Given the description of an element on the screen output the (x, y) to click on. 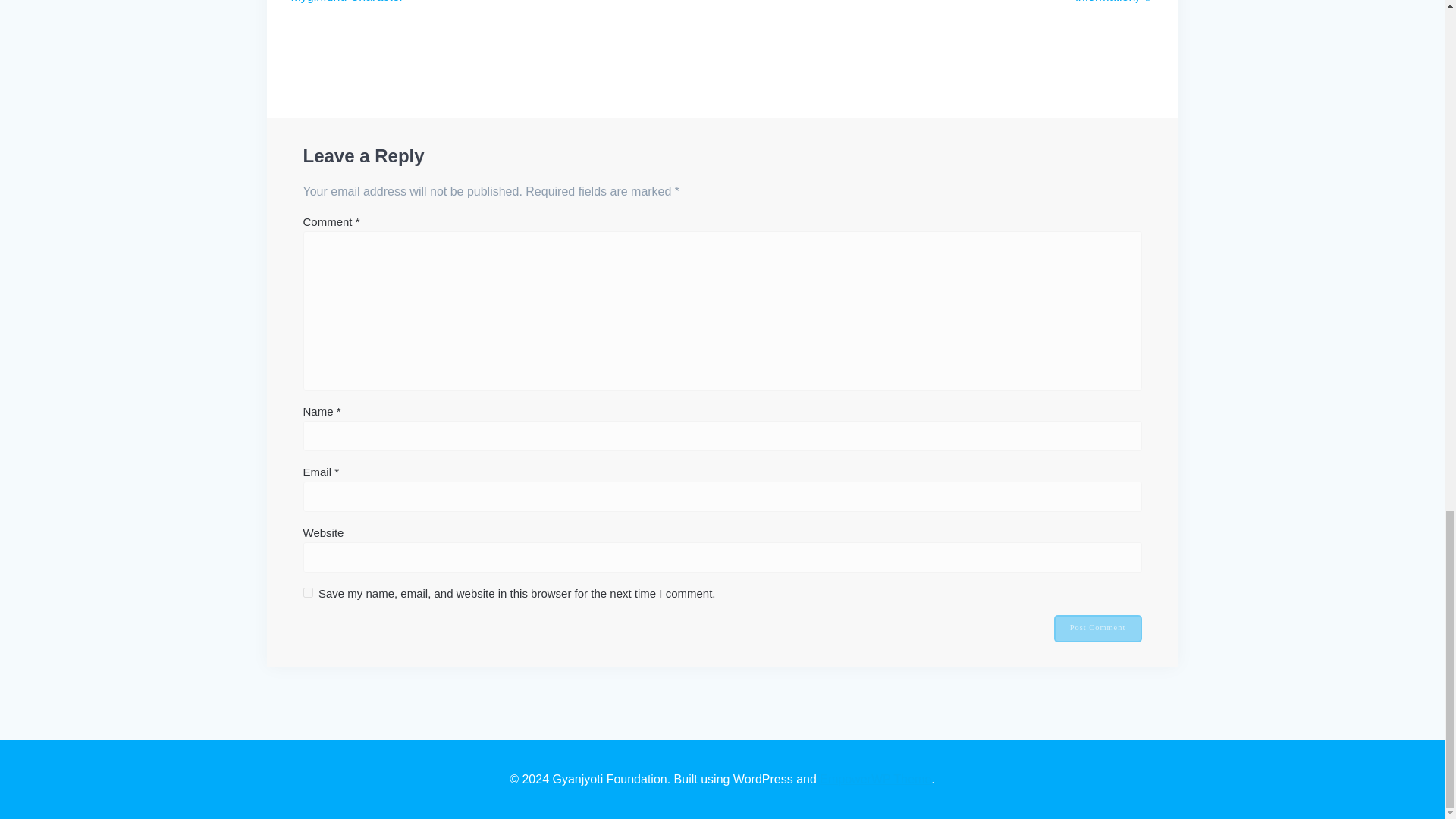
EmpowerWP Theme (875, 779)
yes (307, 592)
Post Comment (1097, 628)
Post Comment (1097, 628)
